Given the description of an element on the screen output the (x, y) to click on. 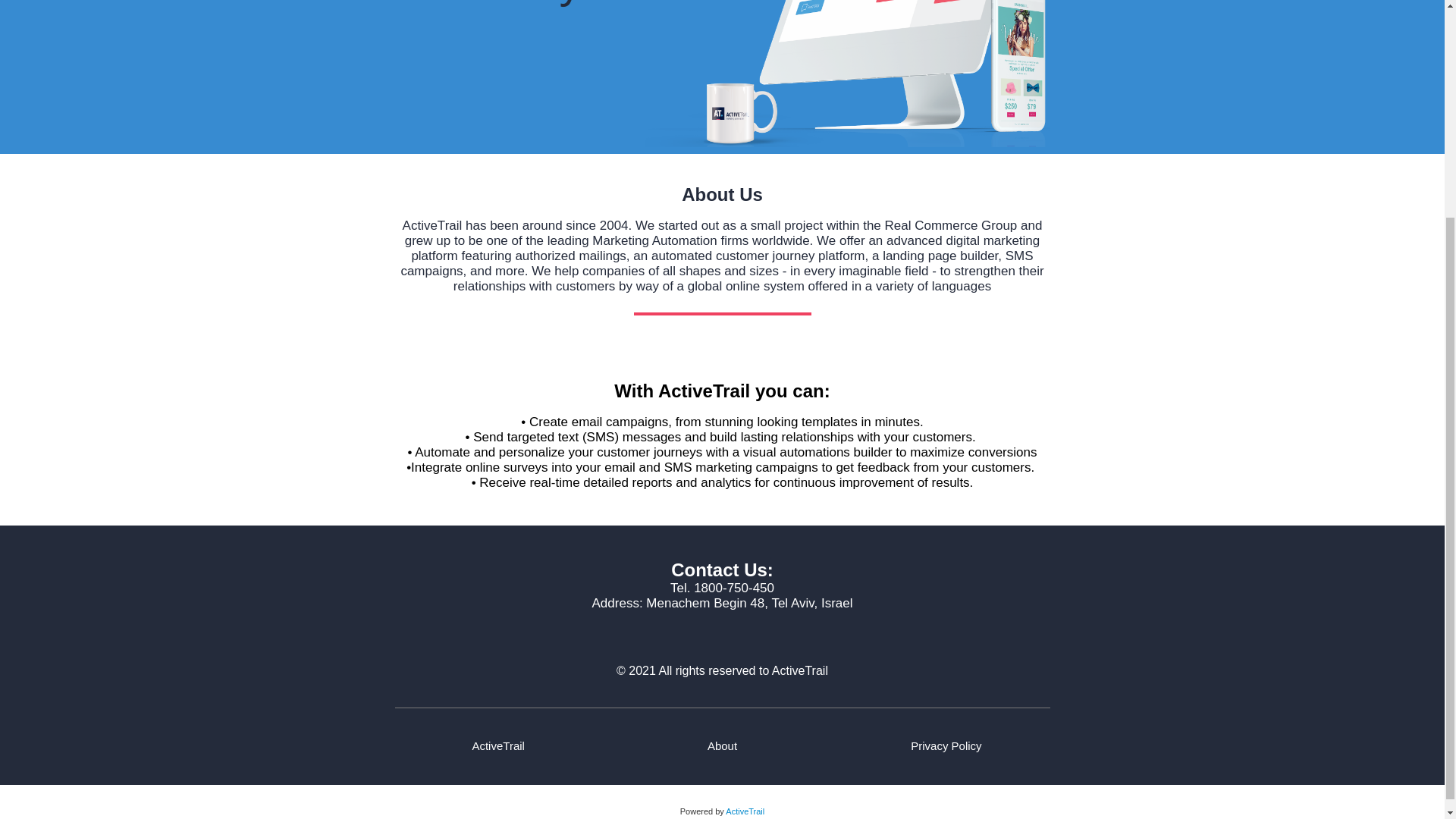
About (721, 745)
ActiveTrail (744, 810)
ActiveTrail (497, 745)
Privacy Policy (946, 745)
